Given the description of an element on the screen output the (x, y) to click on. 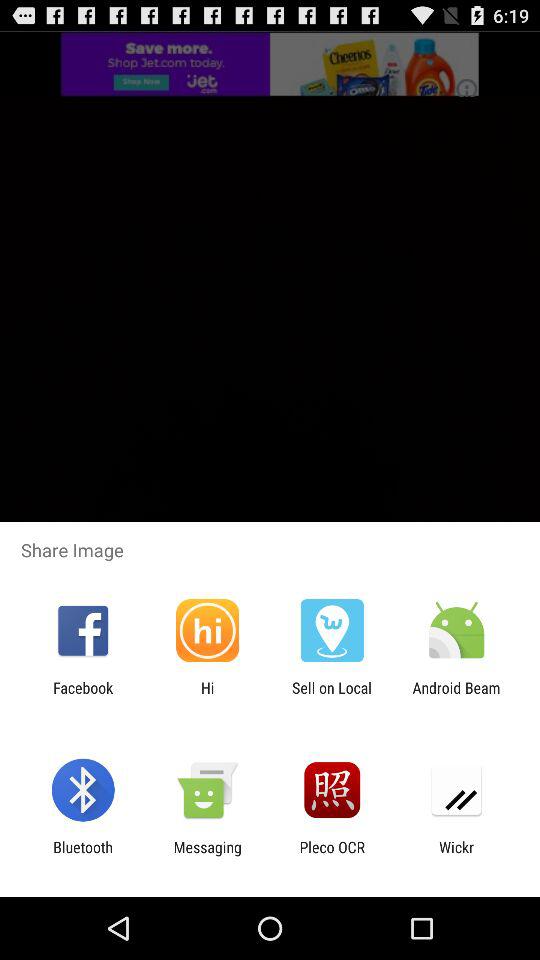
open the app to the right of the pleco ocr item (456, 856)
